Given the description of an element on the screen output the (x, y) to click on. 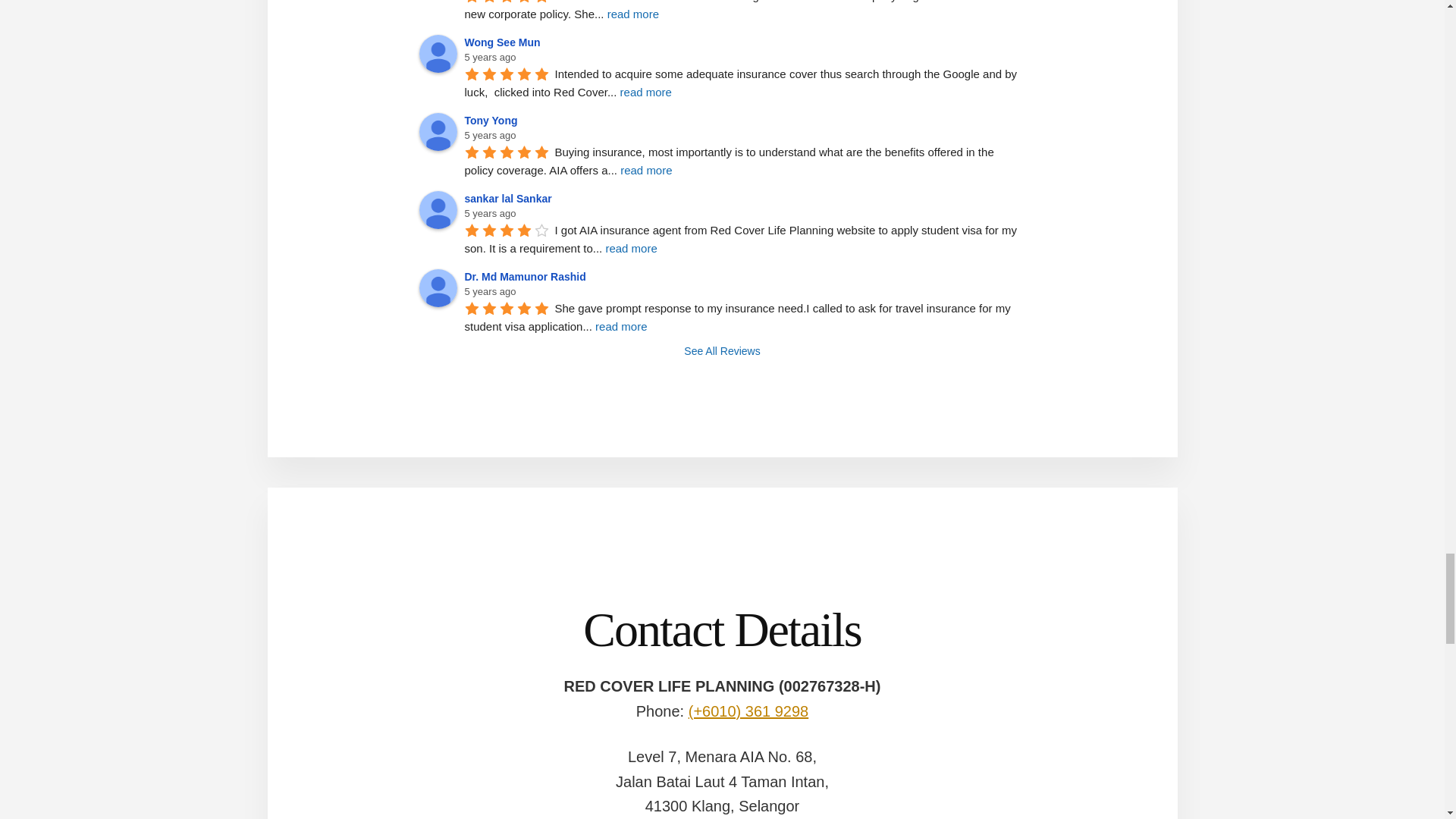
Dr. Md Mamunor Rashid (438, 287)
sankar lal Sankar (438, 209)
Tony Yong (438, 130)
Wong See Mun (438, 53)
